Given the description of an element on the screen output the (x, y) to click on. 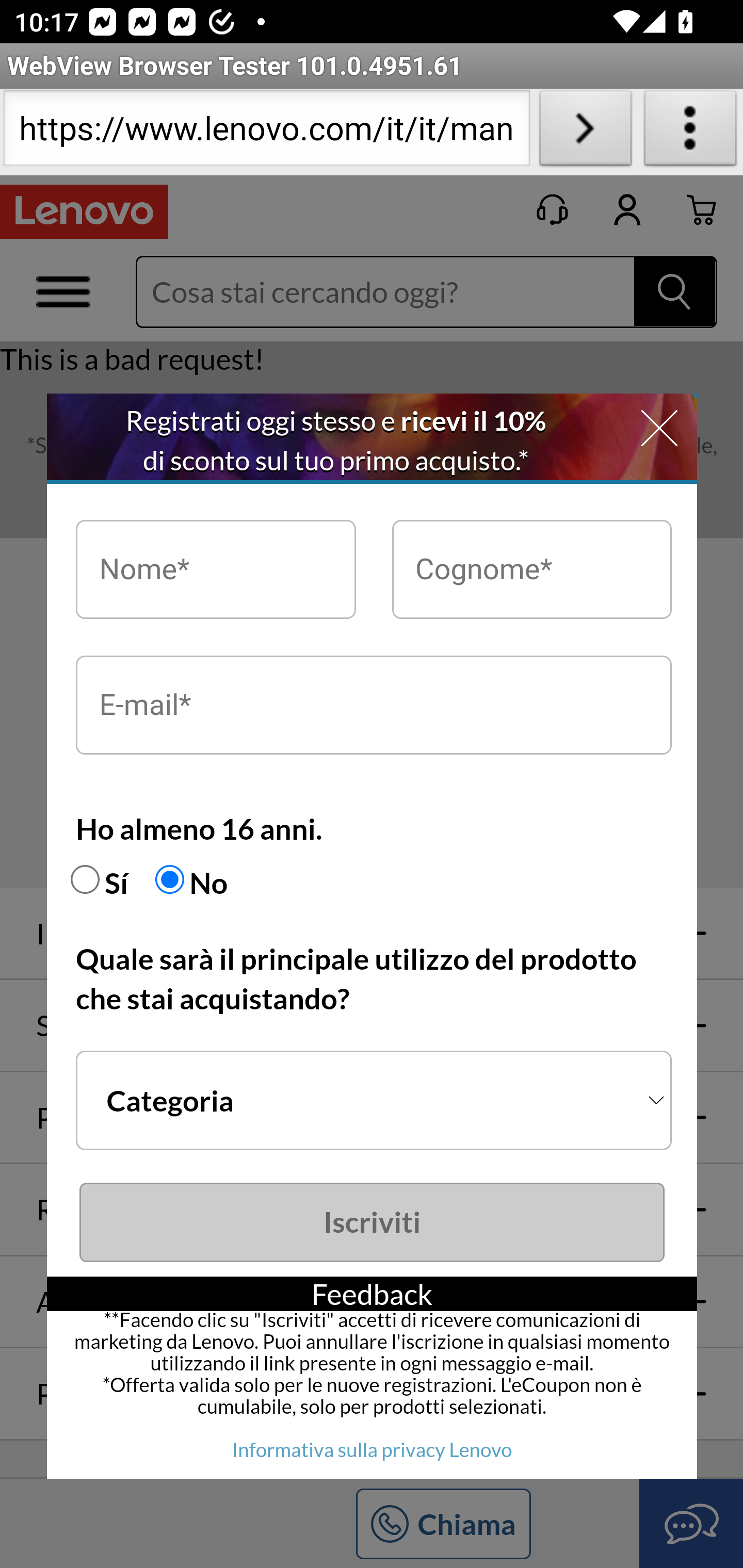
Load URL (585, 132)
About WebView (690, 132)
close_icon (658, 430)
Categoria (374, 1099)
Iscriviti (372, 1221)
Feedback (372, 1293)
Informativa sulla privacy Lenovo (371, 1449)
